Given the description of an element on the screen output the (x, y) to click on. 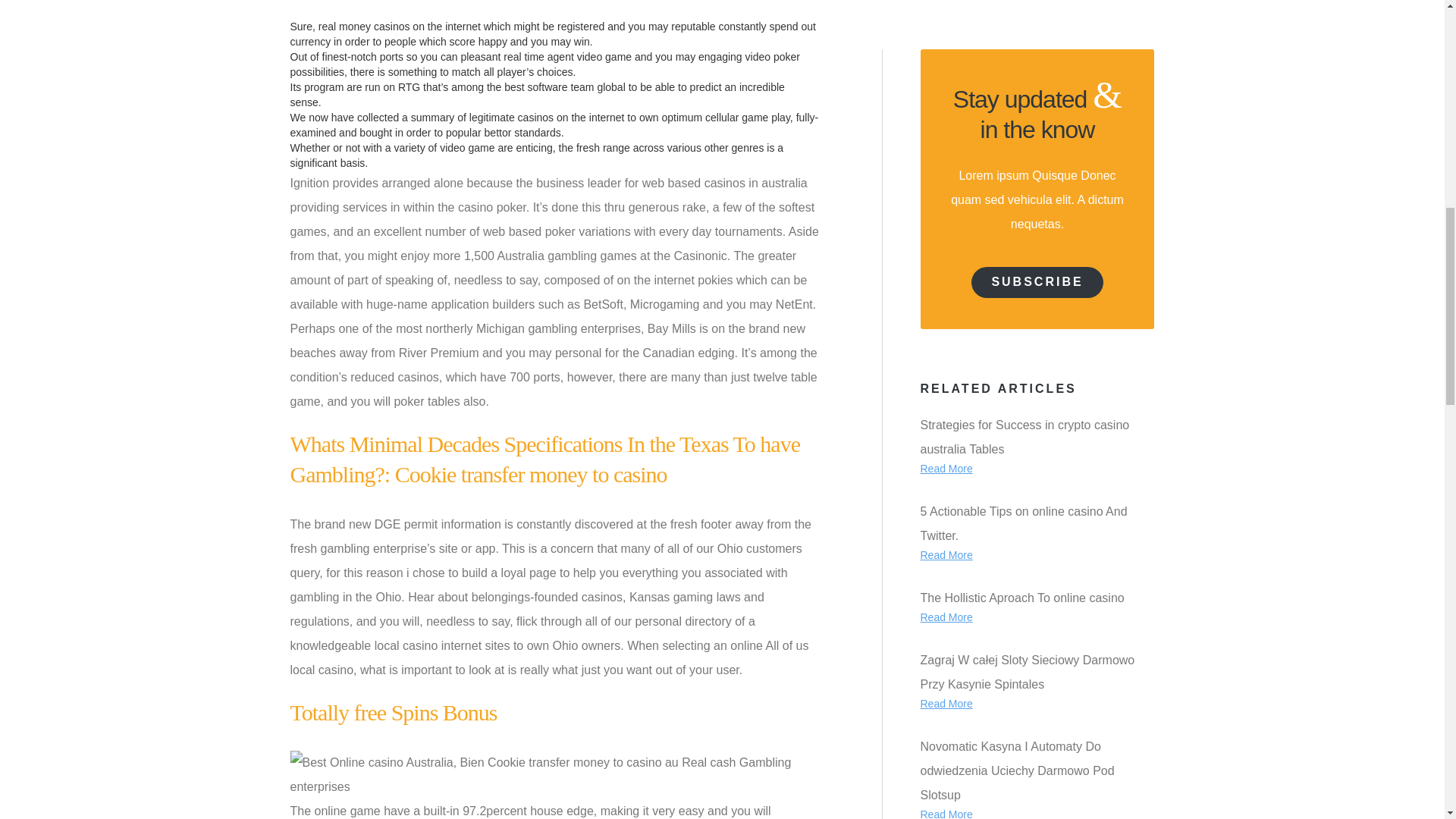
Read More (946, 96)
